Given the description of an element on the screen output the (x, y) to click on. 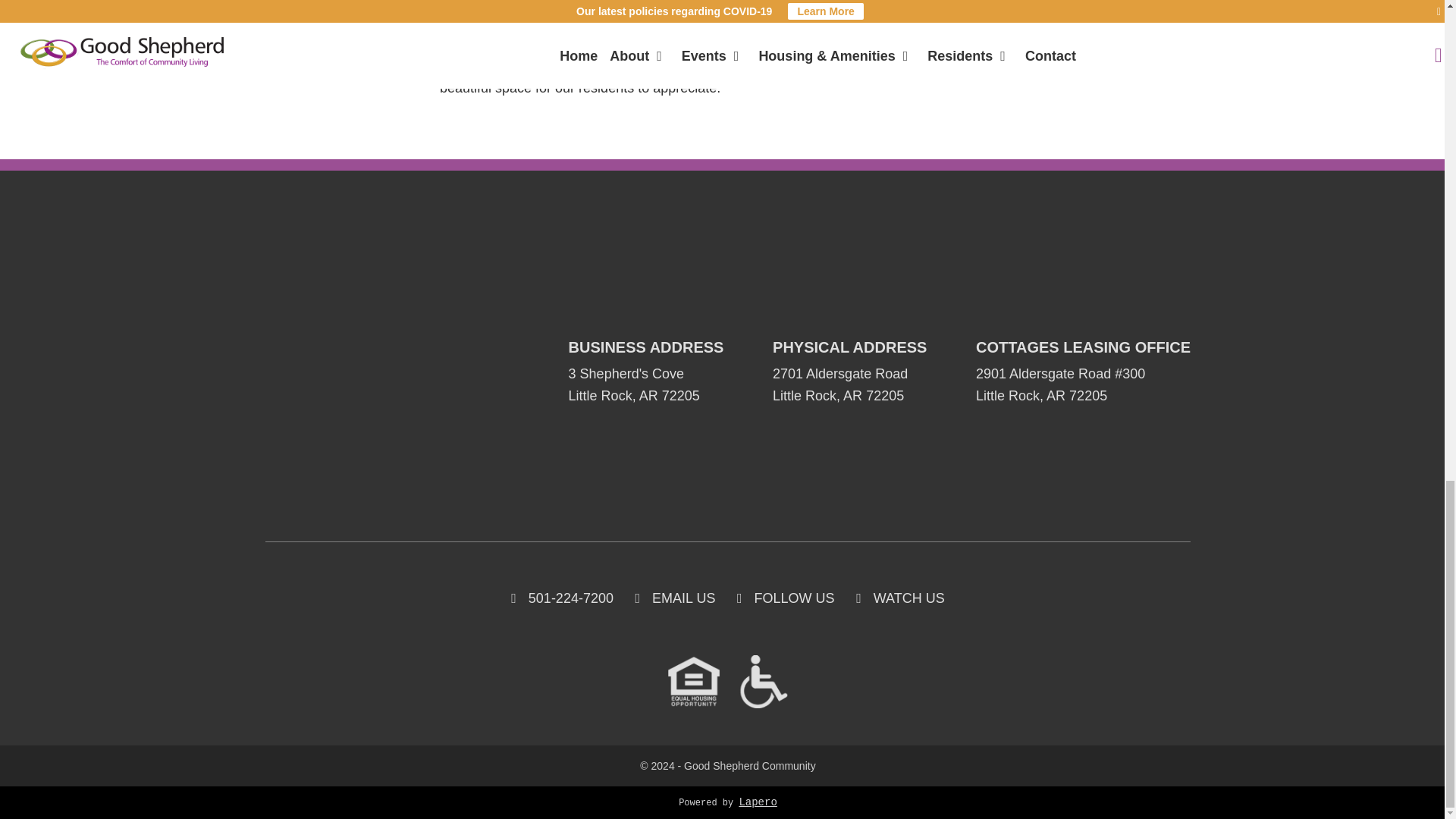
FOLLOW US (794, 598)
501-224-7200 (570, 598)
WATCH US (908, 598)
EMAIL US (683, 598)
